Given the description of an element on the screen output the (x, y) to click on. 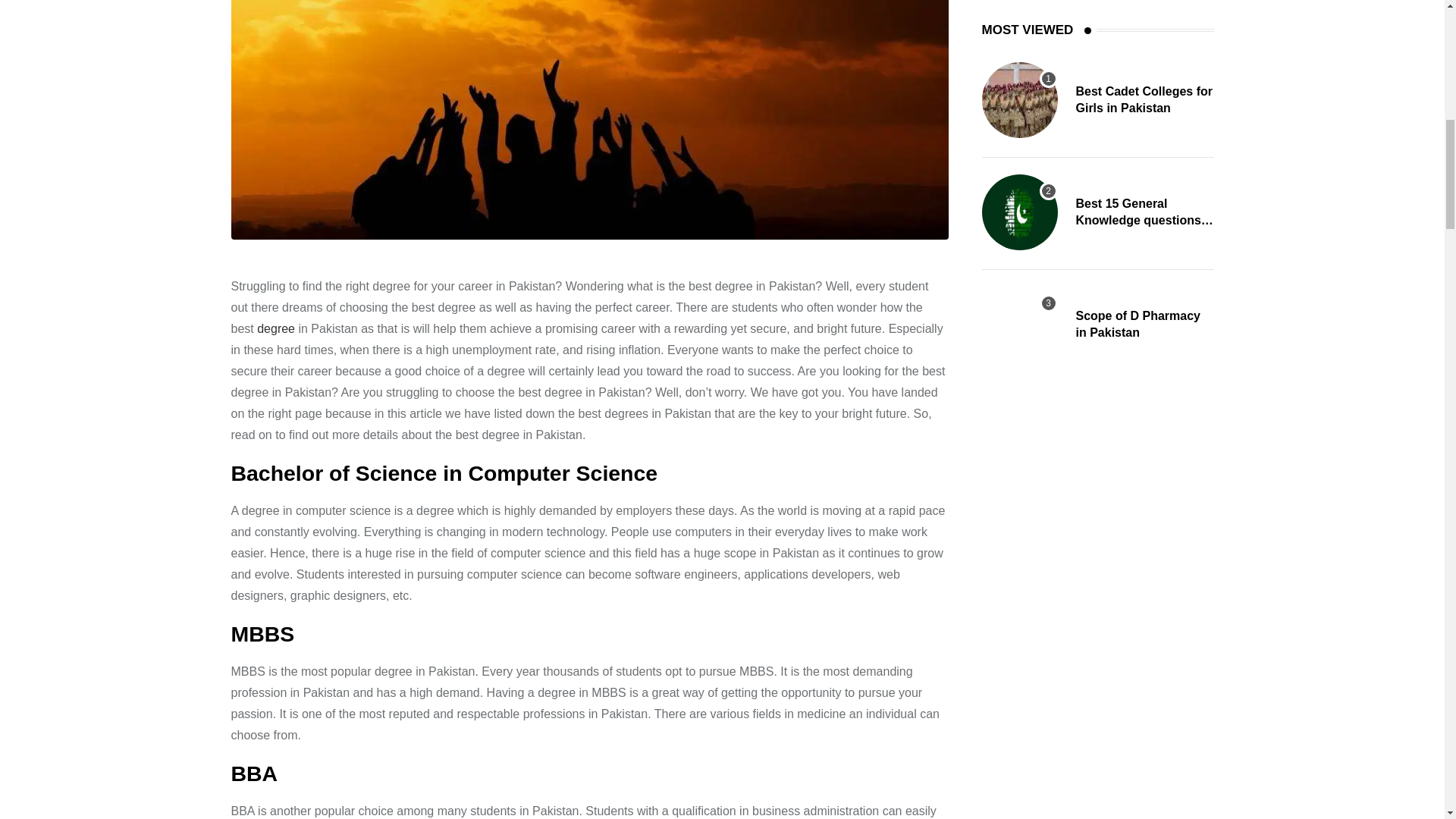
Scope of D Pharmacy in Pakistan (1019, 324)
Best Cadet Colleges for Girls in Pakistan (1019, 100)
Best 15 General Knowledge questions about Pakistan (1019, 212)
